Given the description of an element on the screen output the (x, y) to click on. 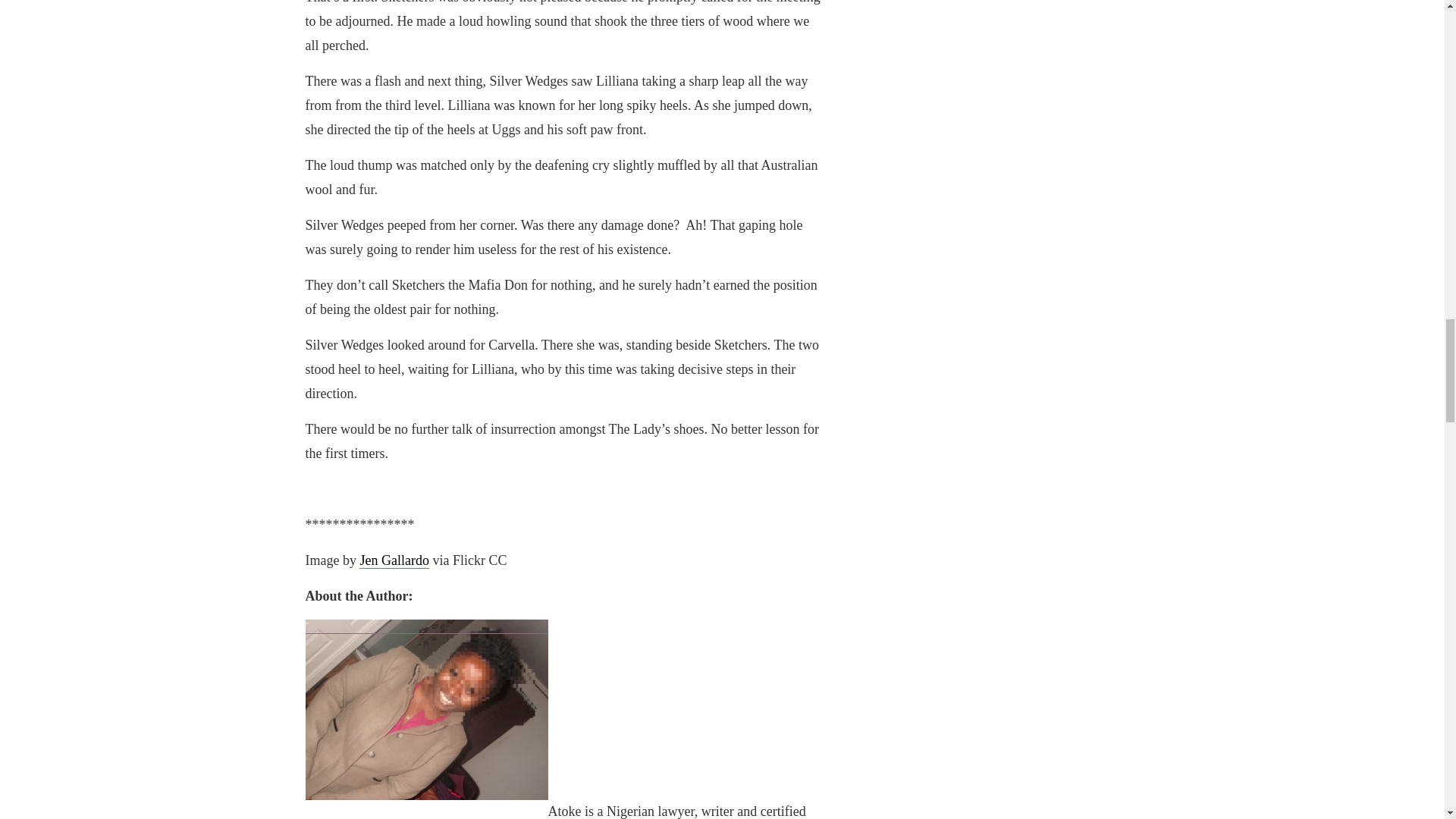
Go to Jen Gallardo's photostream (393, 560)
